Given the description of an element on the screen output the (x, y) to click on. 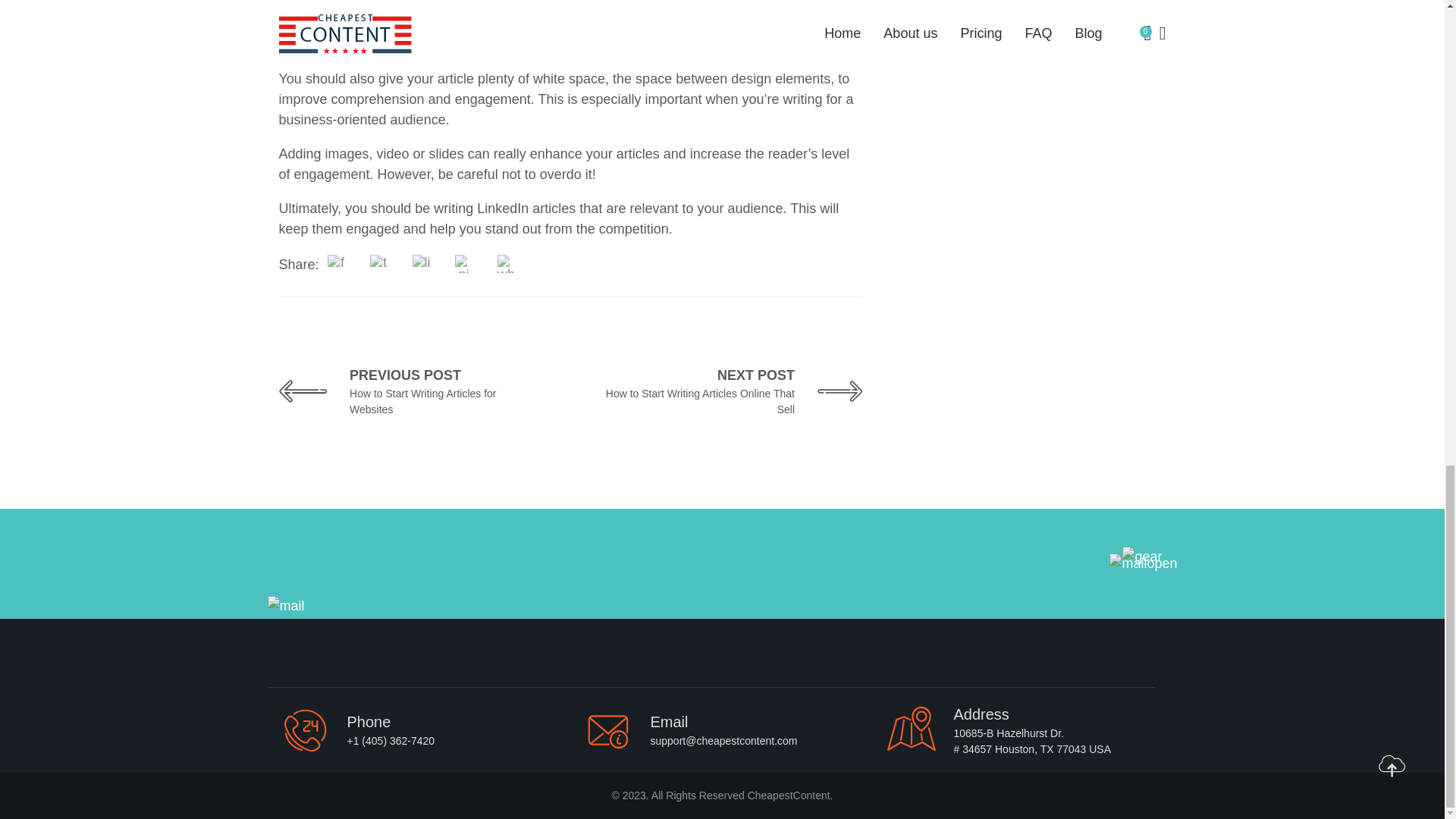
Phone (731, 391)
